Given the description of an element on the screen output the (x, y) to click on. 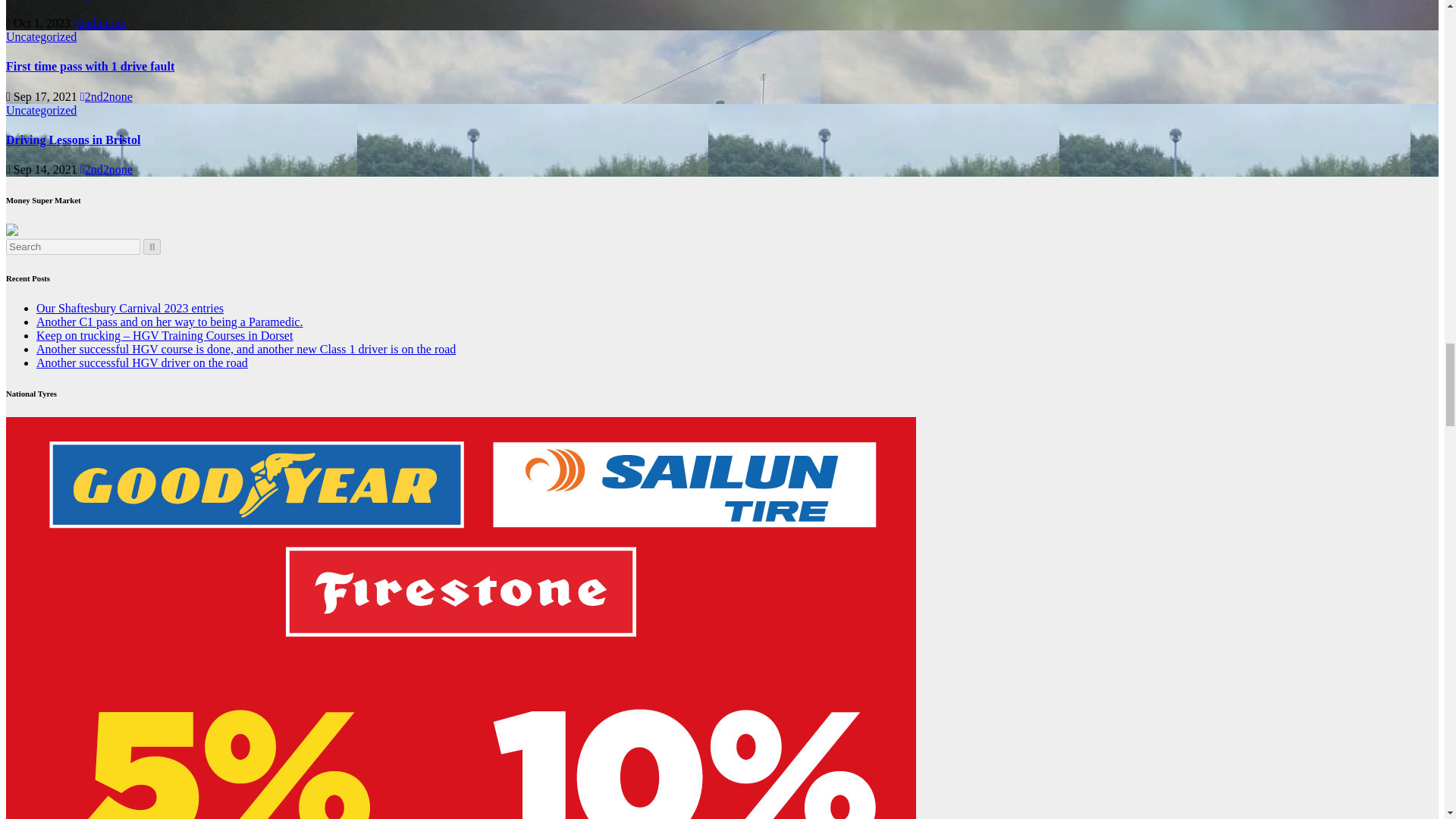
Permalink to: First time pass with 1 drive fault (89, 65)
Permalink to: Driving Lessons in Bristol (72, 139)
